Given the description of an element on the screen output the (x, y) to click on. 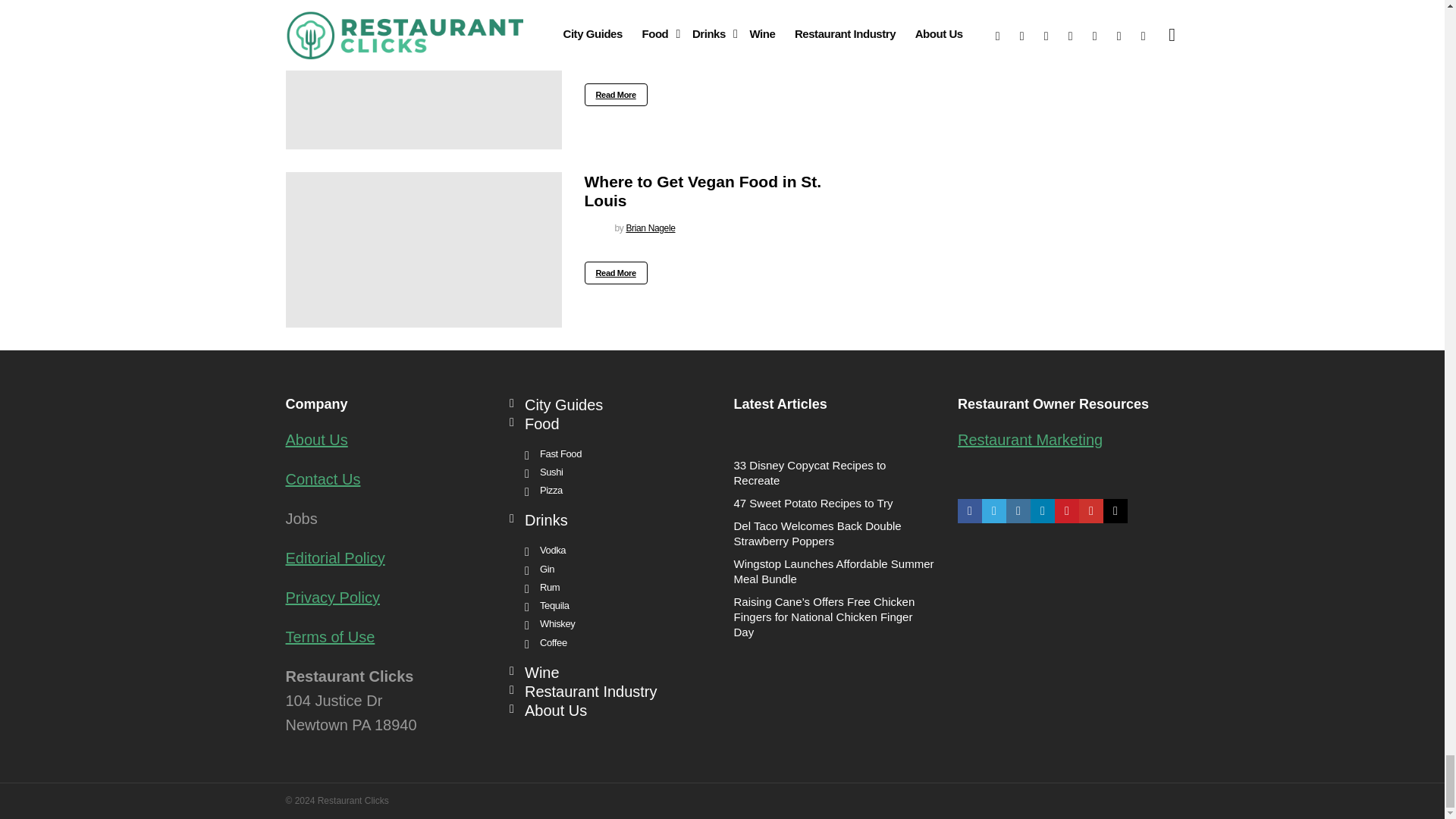
Posts by Brian Nagele (650, 50)
Where to Get Vegan Food in St. Louis (422, 249)
St. Louis Indian Restaurants You Need to Try (422, 74)
